Given the description of an element on the screen output the (x, y) to click on. 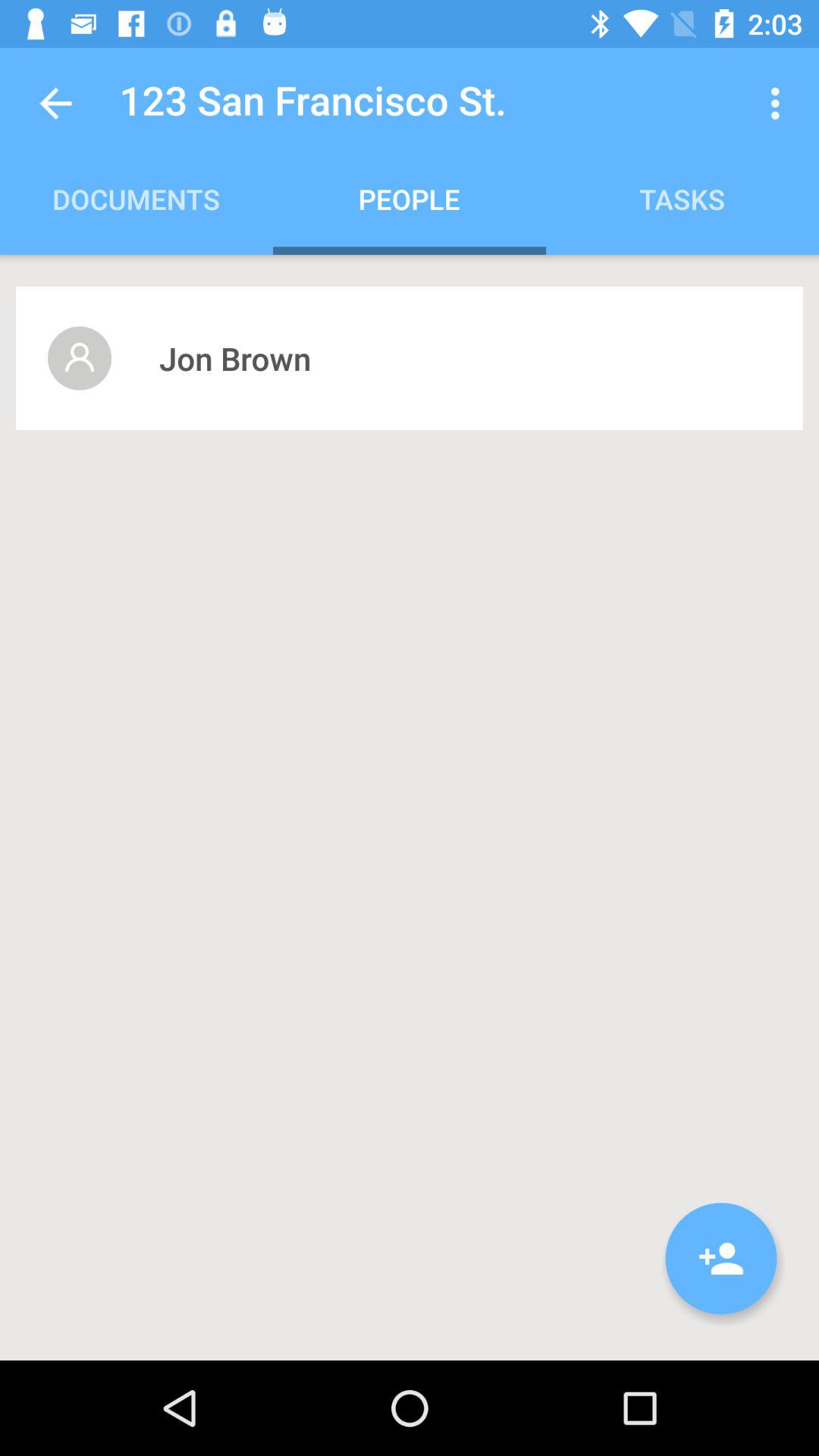
select the icon above documents (55, 103)
